Given the description of an element on the screen output the (x, y) to click on. 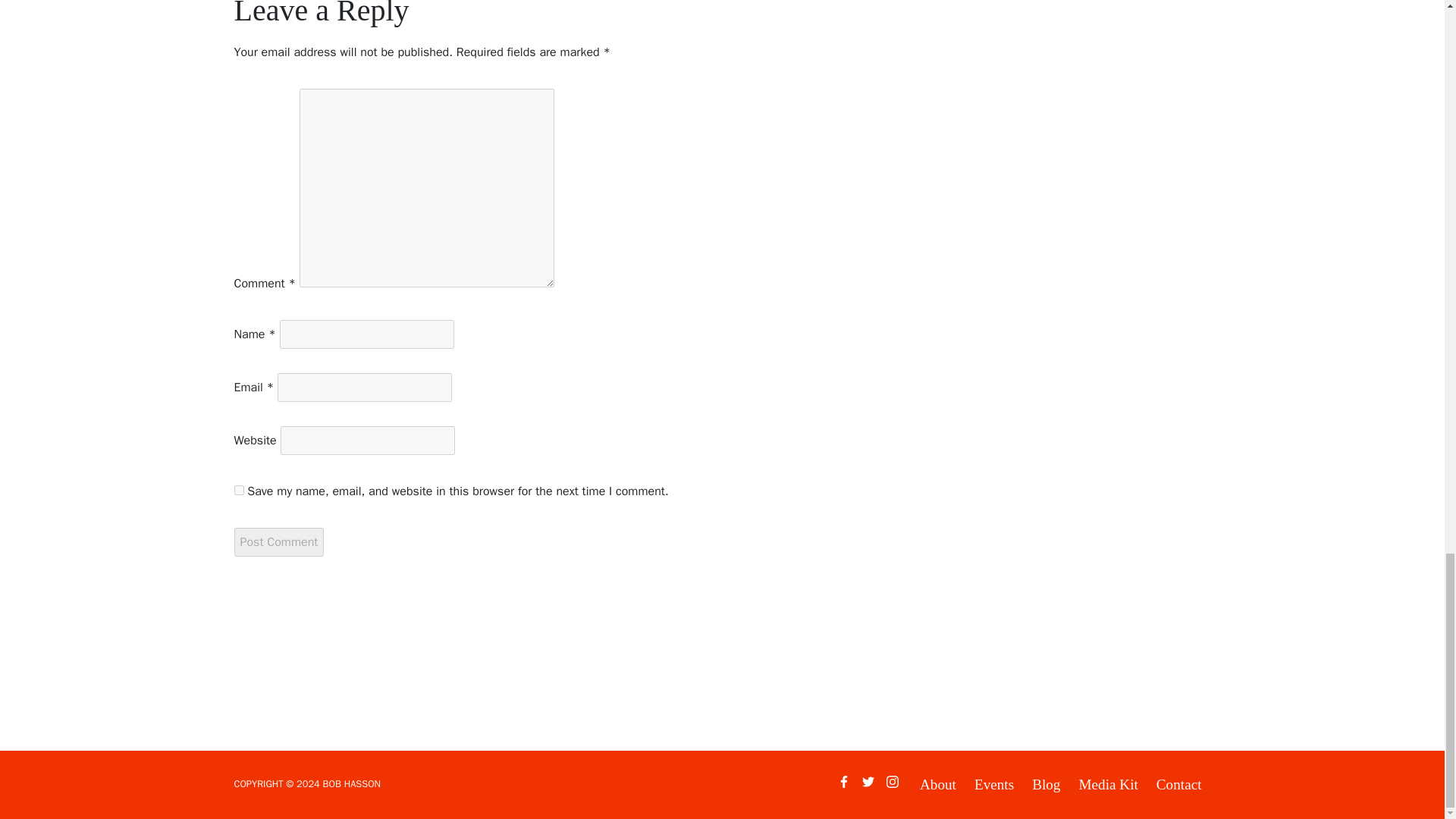
Post Comment (277, 541)
Events (993, 784)
yes (237, 490)
Post Comment (277, 541)
Media Kit (1107, 784)
Contact (1179, 784)
About (938, 784)
